Given the description of an element on the screen output the (x, y) to click on. 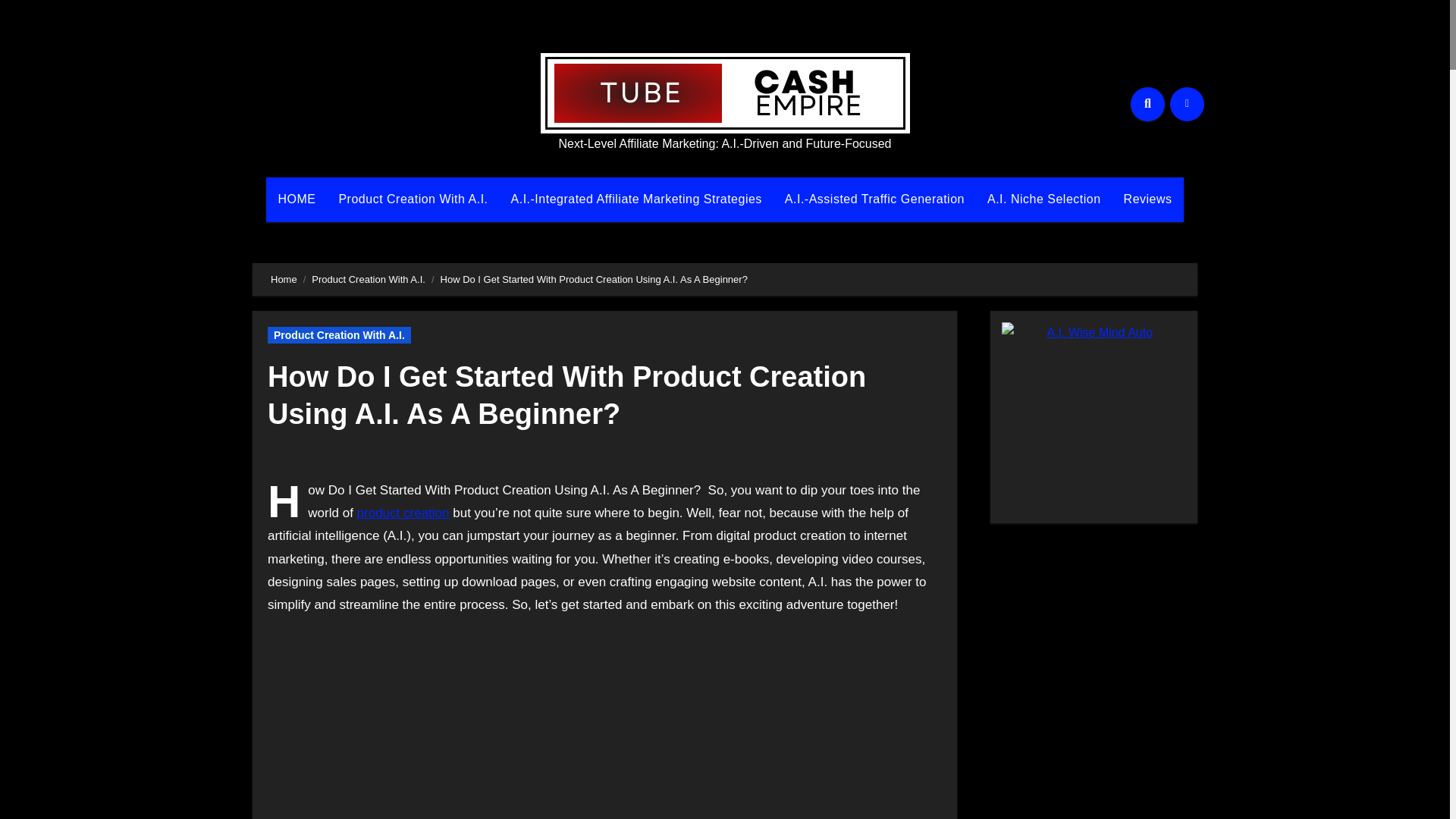
Reviews (1147, 199)
Product Creation With A.I. (412, 199)
Reviews (1147, 199)
HOME (296, 199)
A.I.-Integrated Affiliate Marketing Strategies (636, 199)
Product Creation With A.I. (338, 334)
A.I. Niche Selection (1043, 199)
A.I.-Assisted Traffic Generation (874, 199)
